Given the description of an element on the screen output the (x, y) to click on. 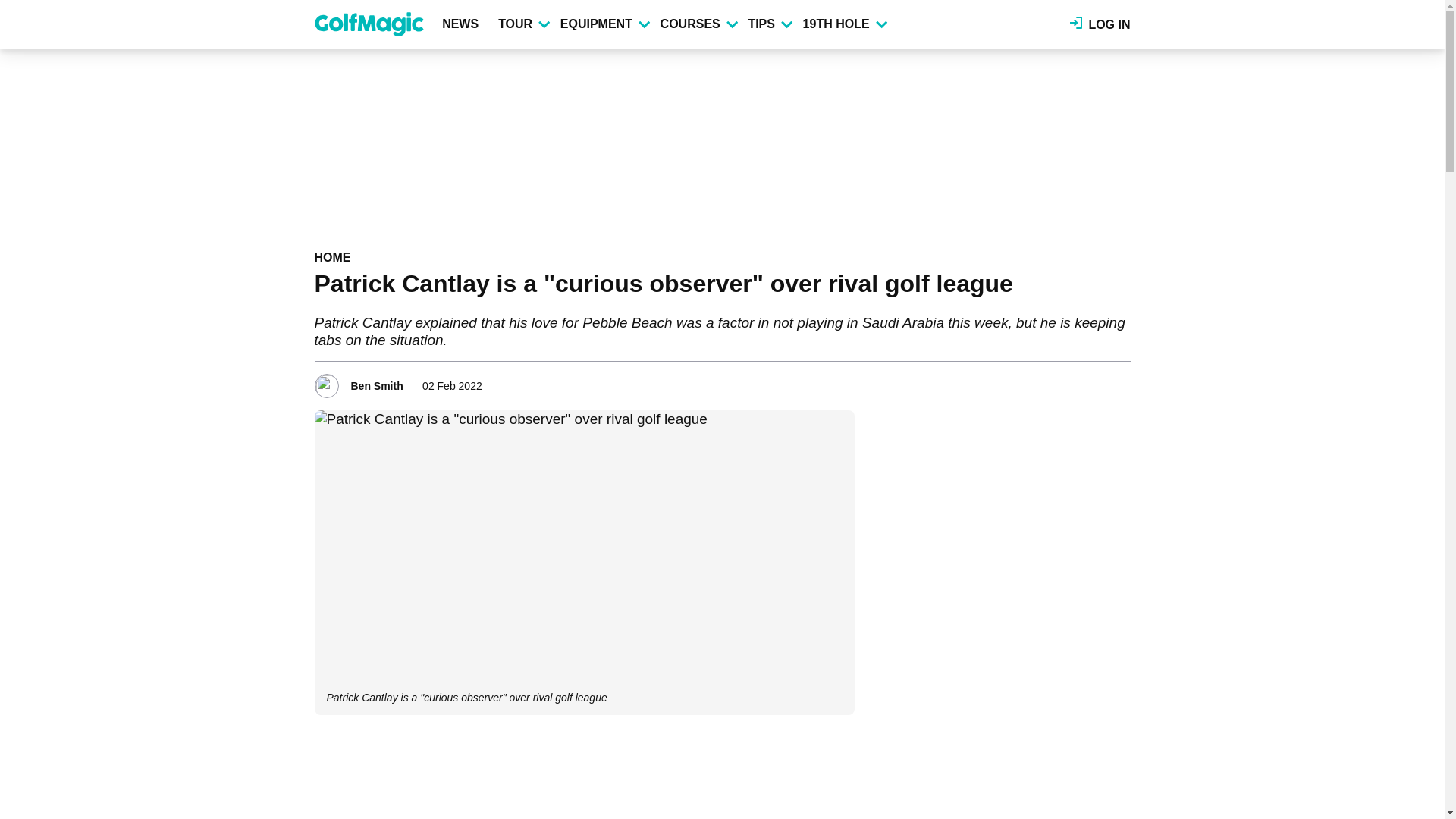
TOUR (523, 24)
Share to X (1076, 381)
EQUIPMENT (603, 24)
Share to Email (1119, 381)
LOG IN (1100, 24)
Share to Linkedin (1097, 381)
NEWS (463, 24)
Share to Facebook (1055, 381)
